Given the description of an element on the screen output the (x, y) to click on. 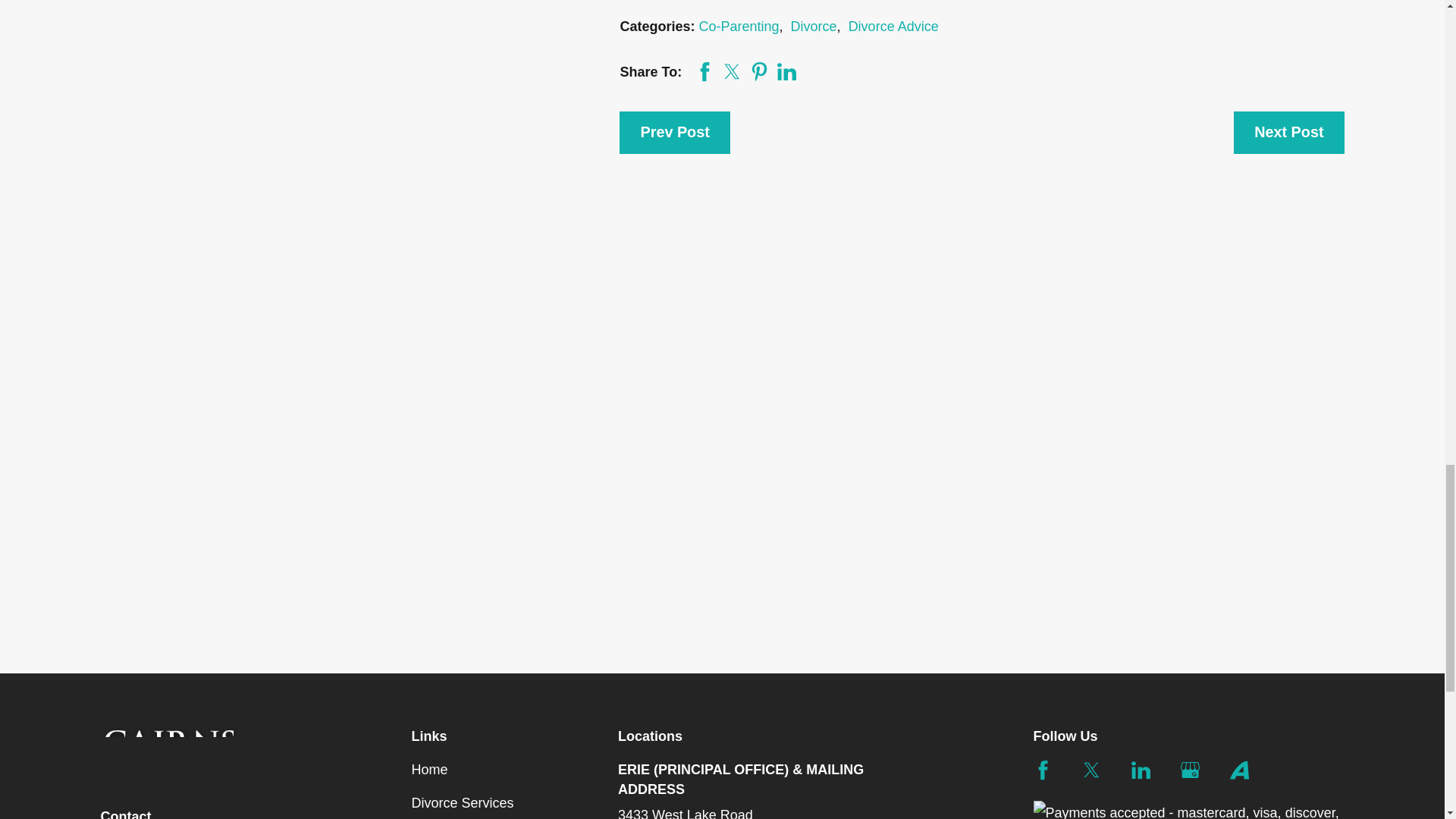
Twitter (1090, 769)
LinkedIn (1140, 769)
Google Business Profile (1189, 769)
Home (236, 749)
Facebook (1041, 769)
Avvo (1239, 769)
